Given the description of an element on the screen output the (x, y) to click on. 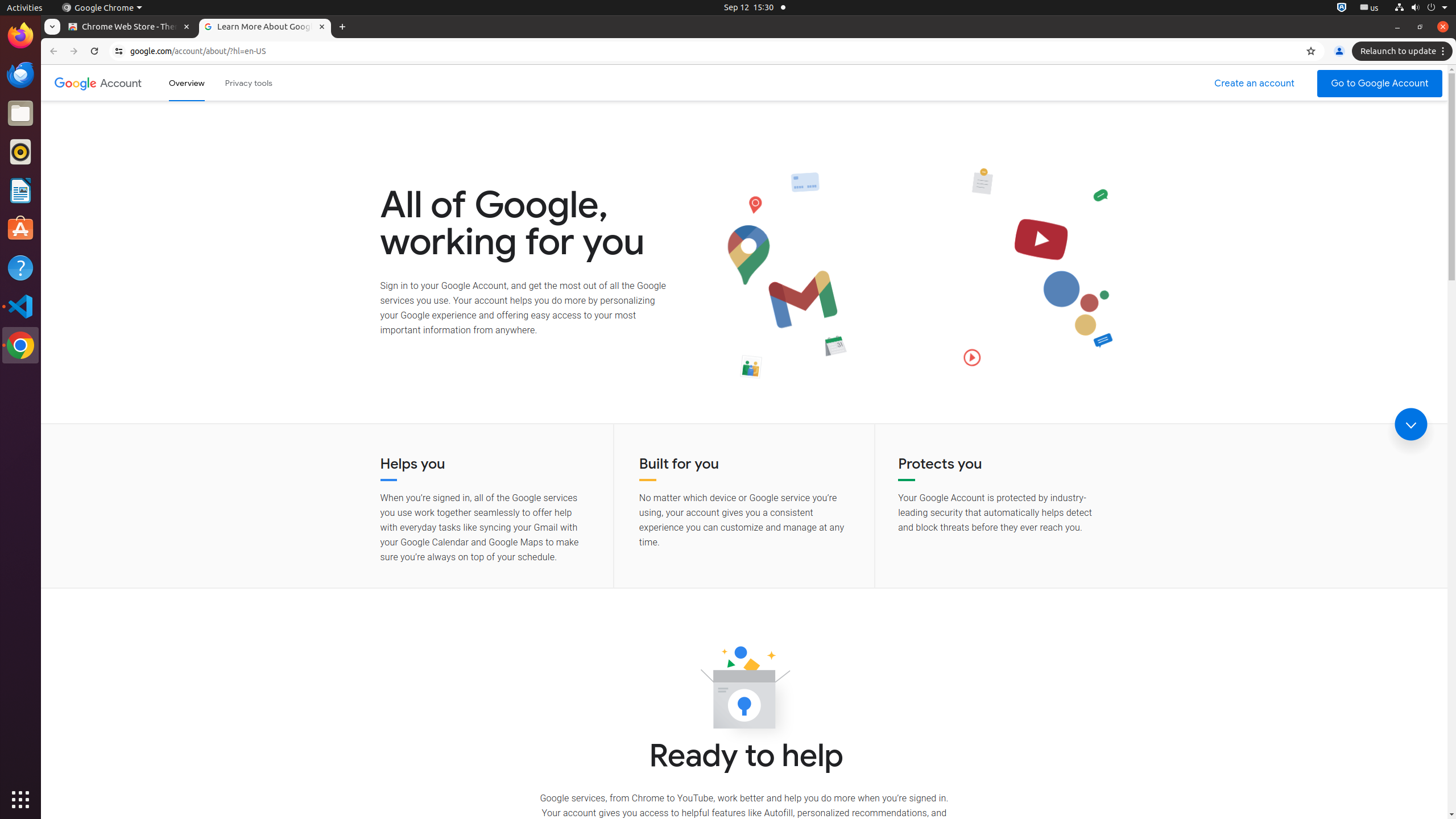
New Tab Element type: push-button (342, 26)
Visual Studio Code Element type: push-button (20, 306)
Google Account Element type: link (121, 82)
Create a Google Account Element type: link (1254, 83)
Forward Element type: push-button (73, 50)
